Given the description of an element on the screen output the (x, y) to click on. 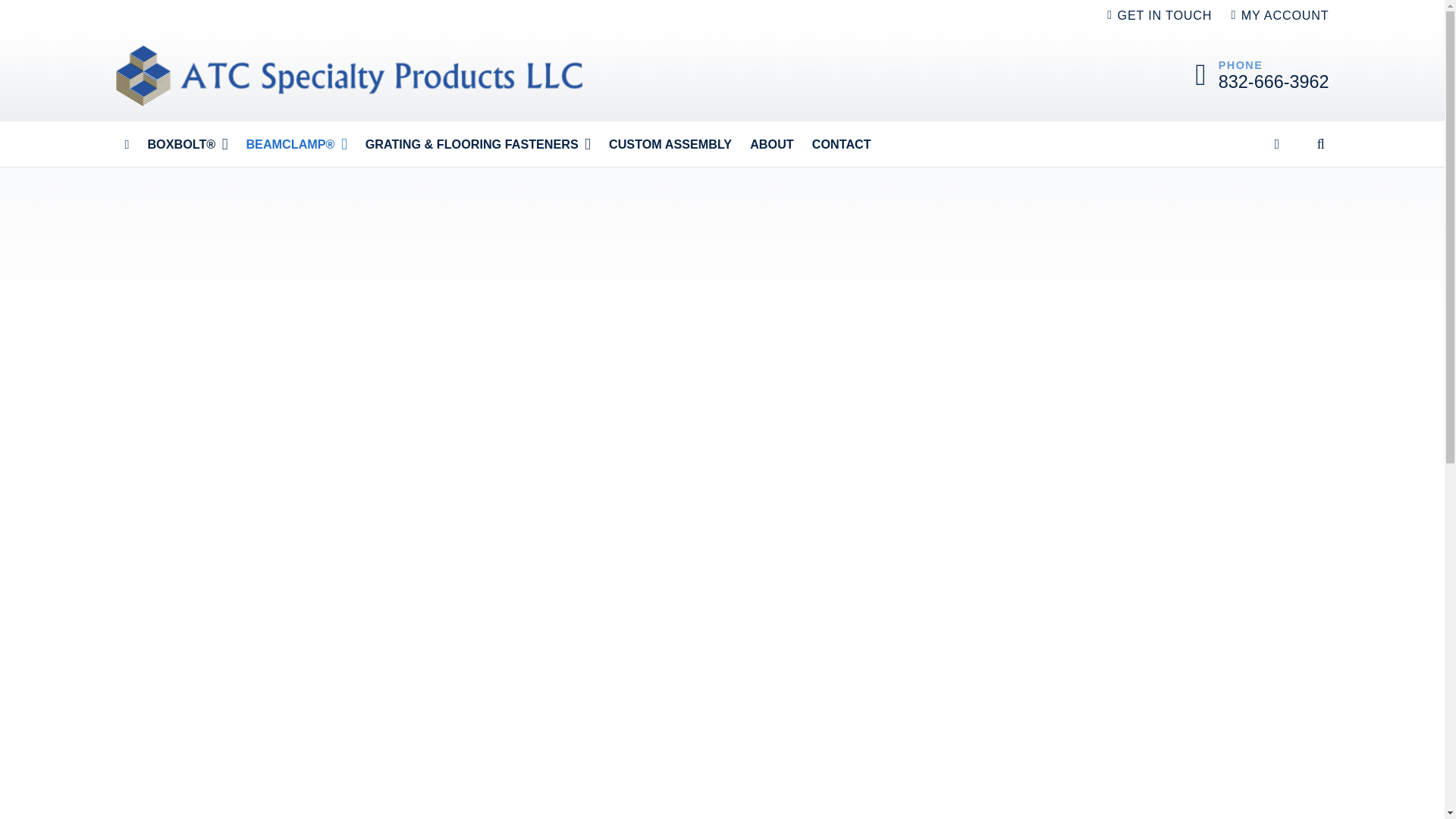
PHONE (1240, 64)
MY ACCOUNT (1280, 15)
832-666-3962 (1273, 81)
GET IN TOUCH (1158, 15)
